Given the description of an element on the screen output the (x, y) to click on. 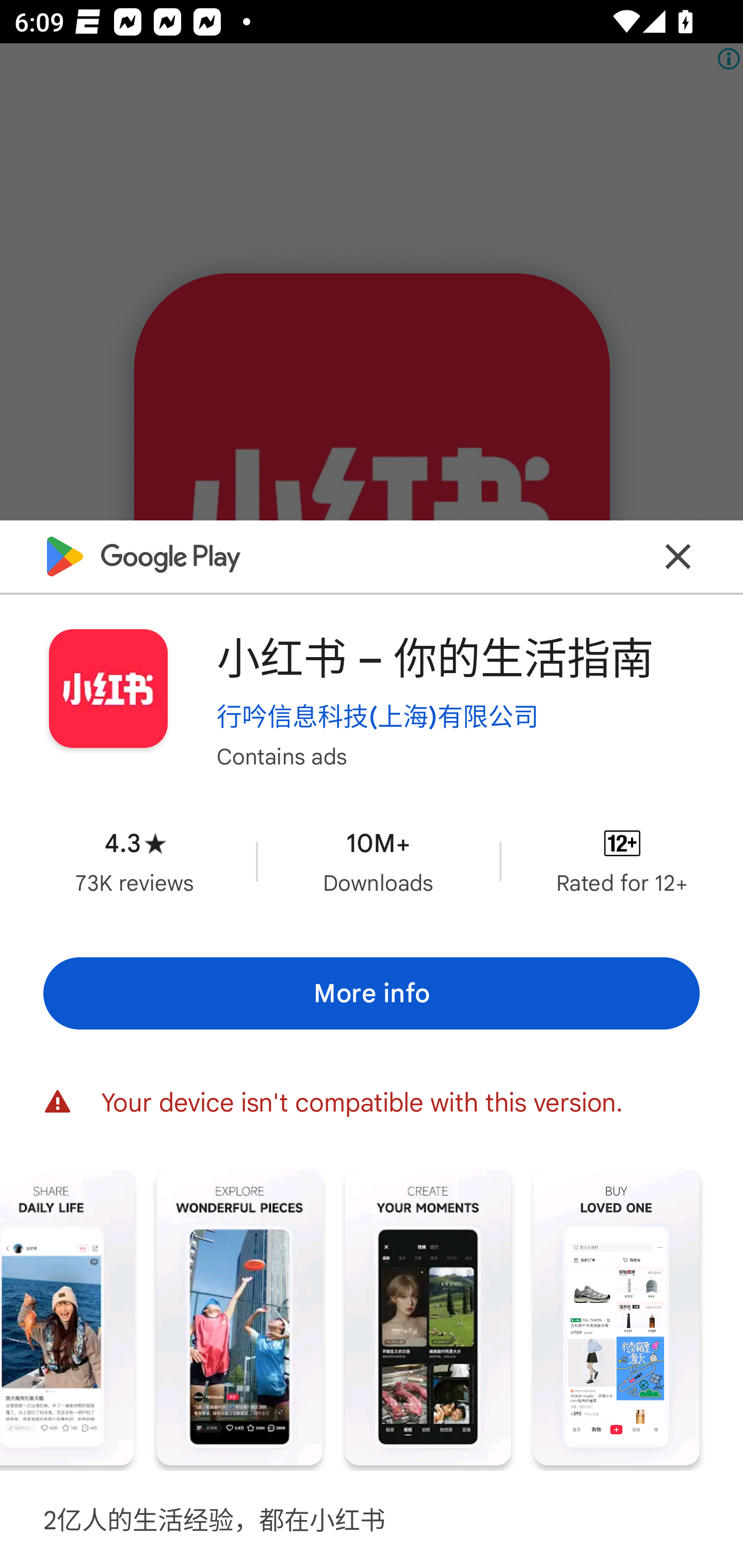
Close (677, 556)
Image of app or game icon for 小红书 – 你的生活指南 (108, 689)
行吟信息科技(上海)有限公司 (377, 716)
More info (371, 994)
Screenshot "2" of "5" (67, 1317)
Screenshot "3" of "5" (239, 1317)
Screenshot "4" of "5" (427, 1317)
Screenshot "5" of "5" (615, 1317)
